Given the description of an element on the screen output the (x, y) to click on. 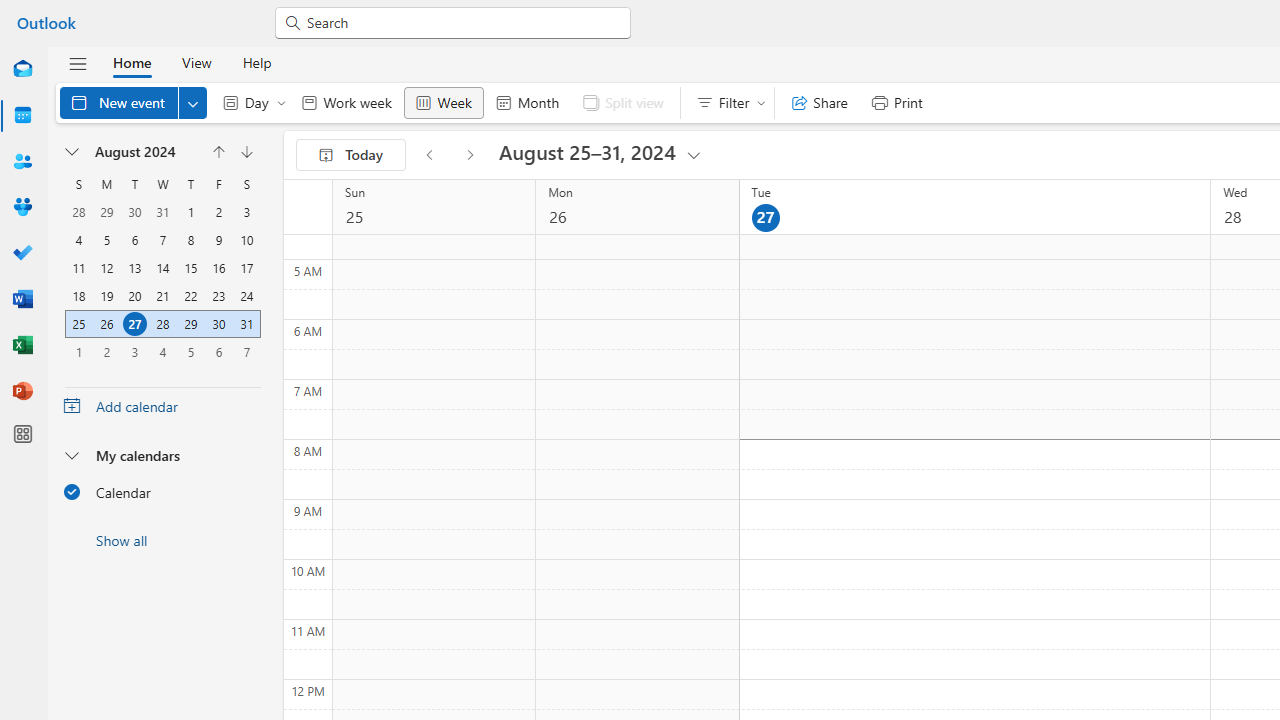
Add calendar (162, 406)
13, August, 2024 (134, 268)
25, August, 2024 (78, 323)
29, July, 2024 (107, 212)
Tuesday (134, 183)
29, August, 2024 (190, 323)
28, August, 2024 (162, 323)
12, August, 2024 (107, 268)
7, September, 2024 (246, 351)
20, August, 2024 (134, 295)
5, September, 2024 (190, 351)
7, August, 2024 (162, 240)
30, August, 2024 (218, 323)
Split view (622, 102)
